Given the description of an element on the screen output the (x, y) to click on. 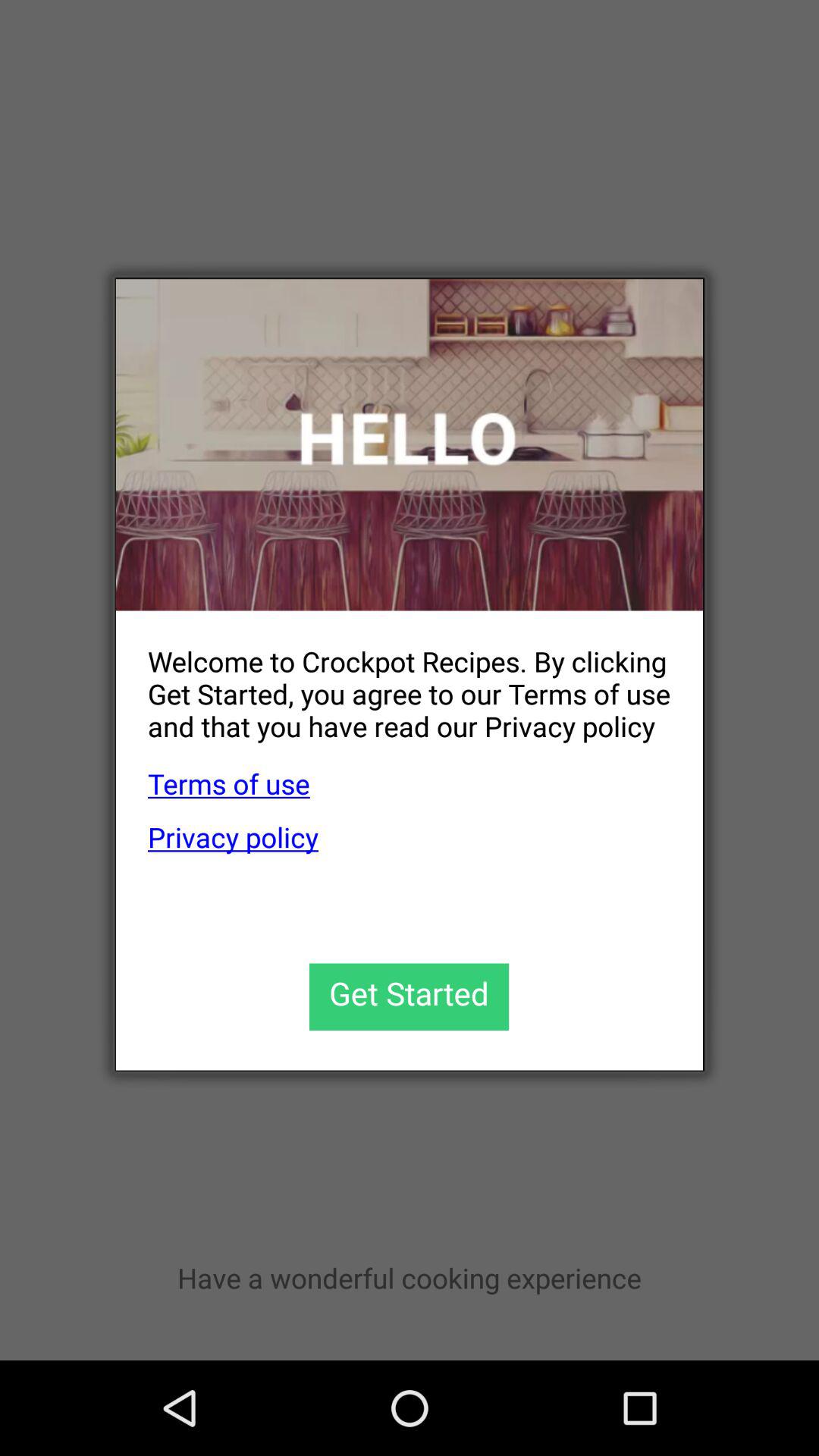
jump until the welcome to crockpot app (393, 681)
